Given the description of an element on the screen output the (x, y) to click on. 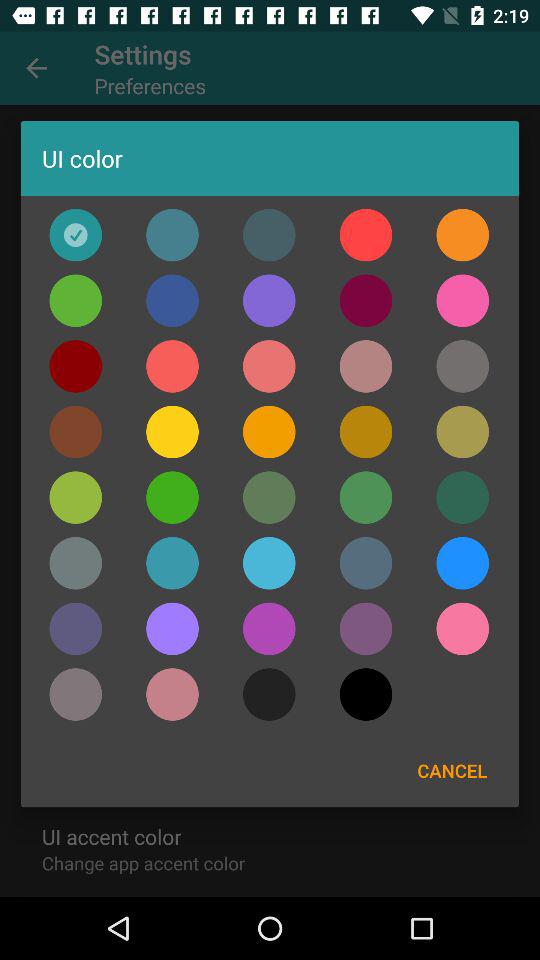
change ui color (75, 366)
